Given the description of an element on the screen output the (x, y) to click on. 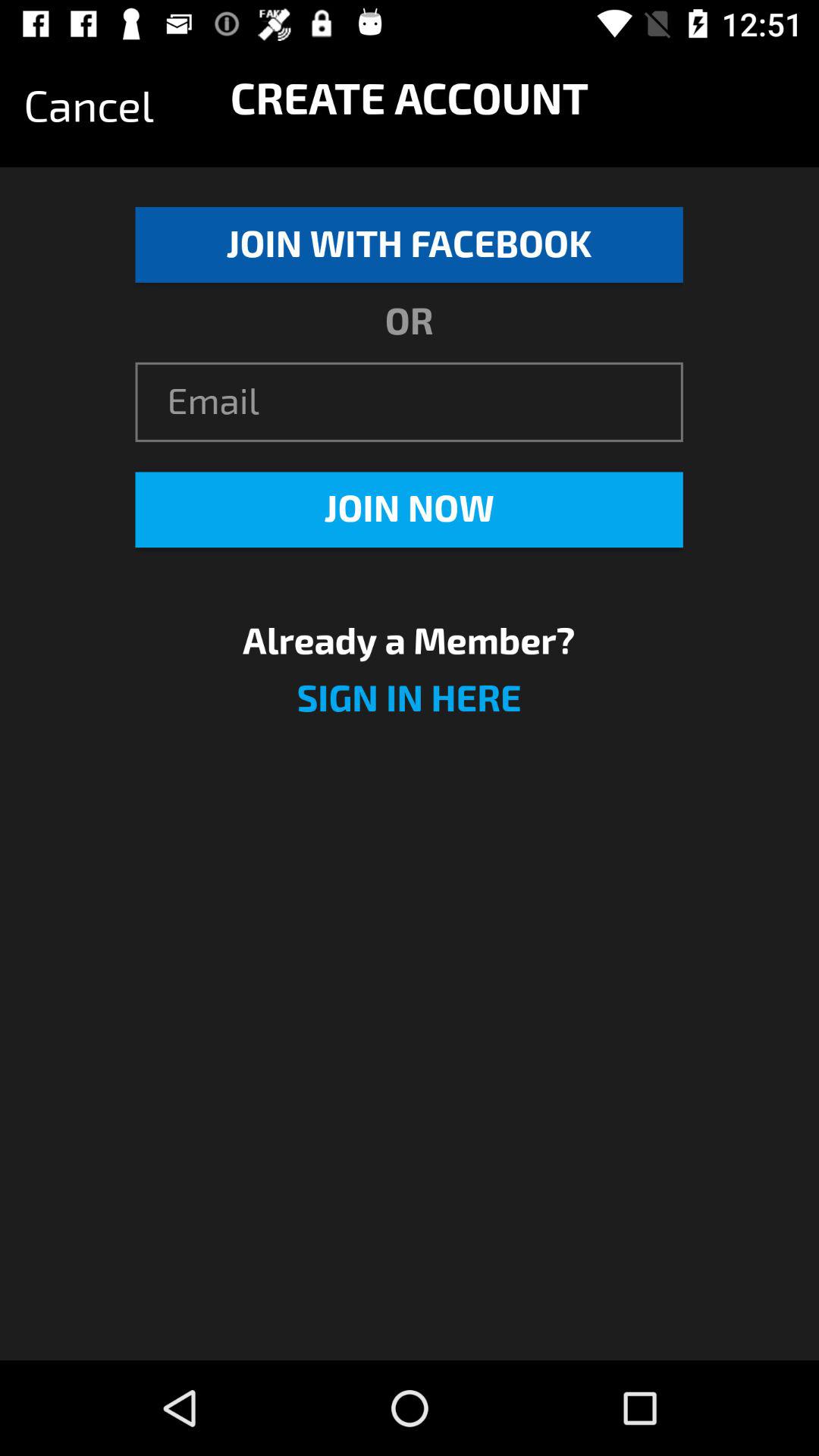
tap icon above or icon (409, 244)
